Given the description of an element on the screen output the (x, y) to click on. 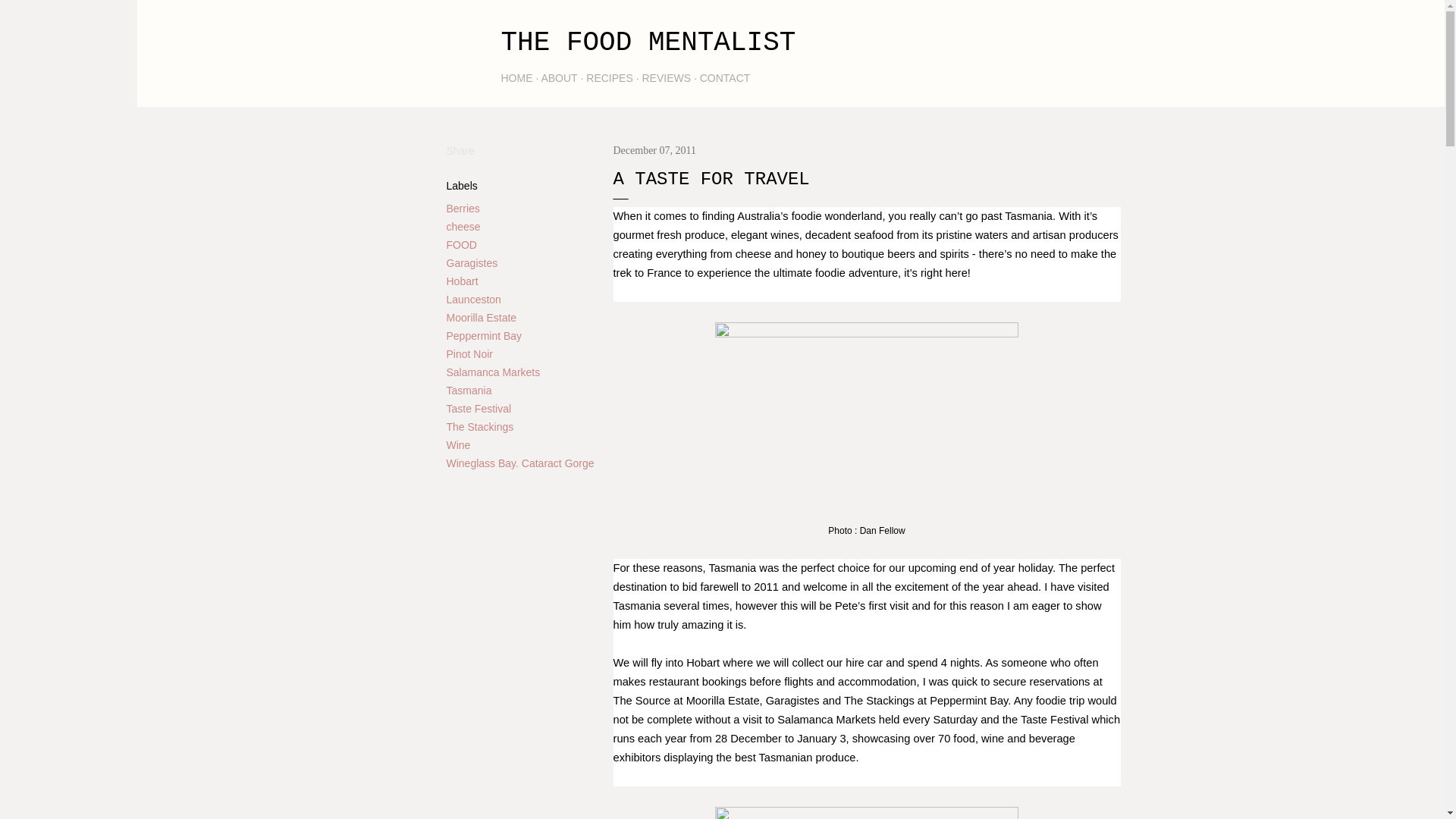
December 07, 2011 (653, 150)
cheese (462, 226)
HOME (516, 78)
REVIEWS (666, 78)
Share (459, 150)
The Stackings (479, 426)
Pinot Noir (468, 354)
Wine (457, 444)
Taste Festival (478, 408)
Wineglass Bay. Cataract Gorge (519, 463)
